Given the description of an element on the screen output the (x, y) to click on. 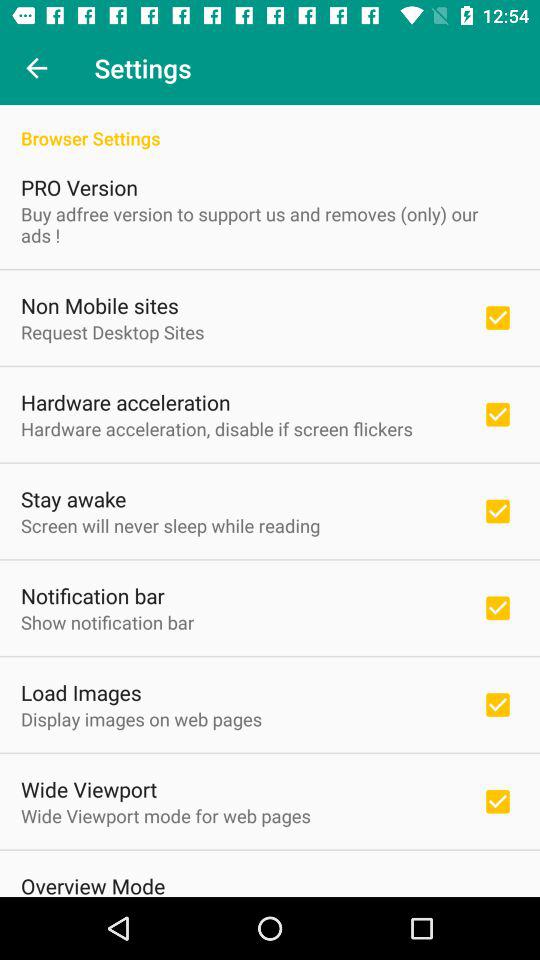
choose item to the left of the settings (36, 68)
